Given the description of an element on the screen output the (x, y) to click on. 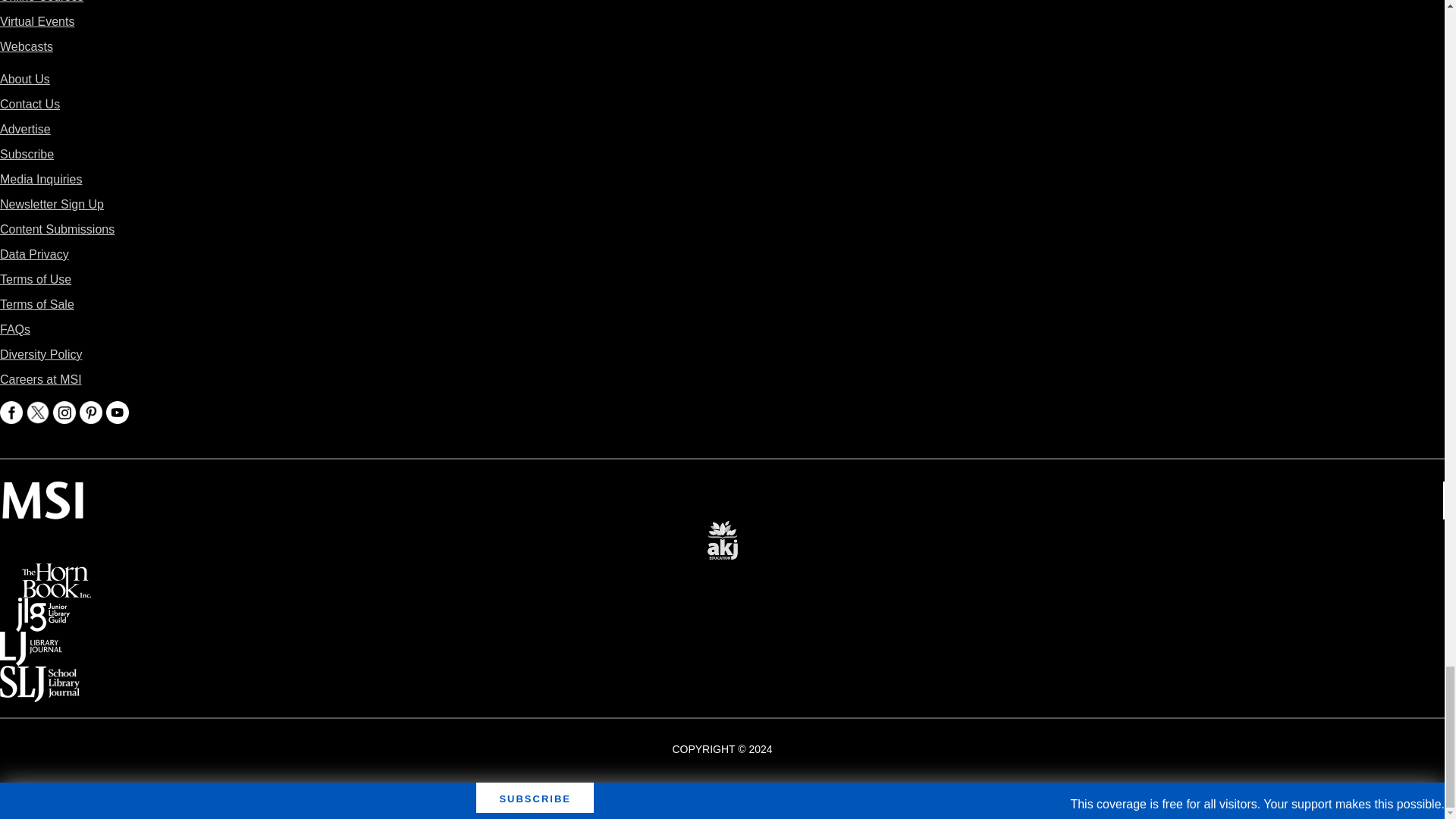
Media Source Incorporated (42, 491)
AKJ (722, 529)
School Library Journal (40, 676)
Junior Library Guild (42, 607)
The Horn Book (56, 573)
